Given the description of an element on the screen output the (x, y) to click on. 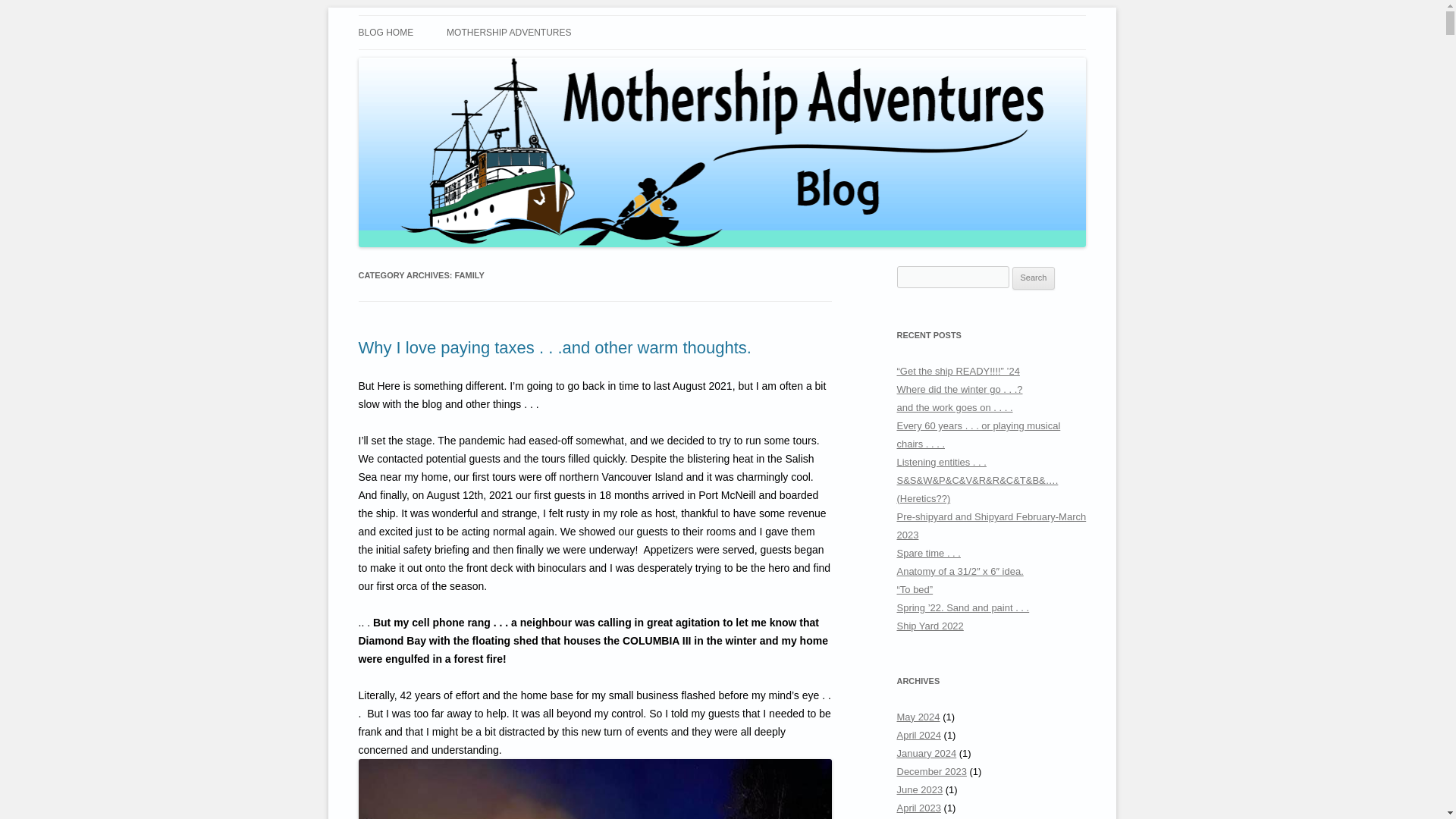
Why I love paying taxes . . .and other warm thoughts. (554, 347)
Sea Kayaking in British Columbia (514, 33)
Search (1033, 277)
MOTHERSHIP ADVENTURES (508, 32)
BLOG HOME (385, 32)
